Given the description of an element on the screen output the (x, y) to click on. 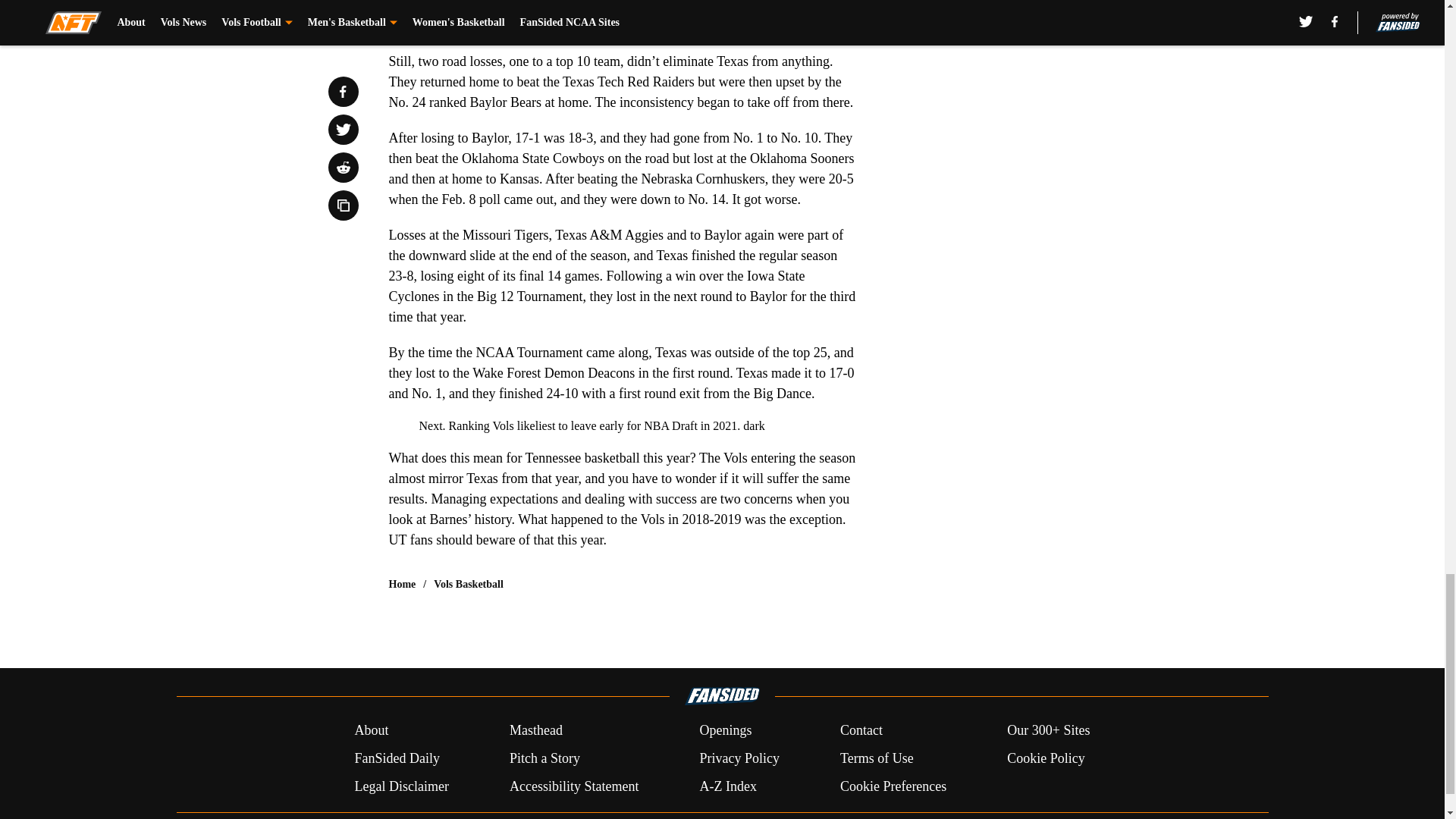
Privacy Policy (738, 758)
Home (401, 584)
About (370, 730)
Pitch a Story (544, 758)
Vols Basketball (468, 584)
Contact (861, 730)
Terms of Use (877, 758)
FanSided Daily (396, 758)
Masthead (535, 730)
Cookie Policy (1045, 758)
Legal Disclaimer (400, 786)
Openings (724, 730)
